Given the description of an element on the screen output the (x, y) to click on. 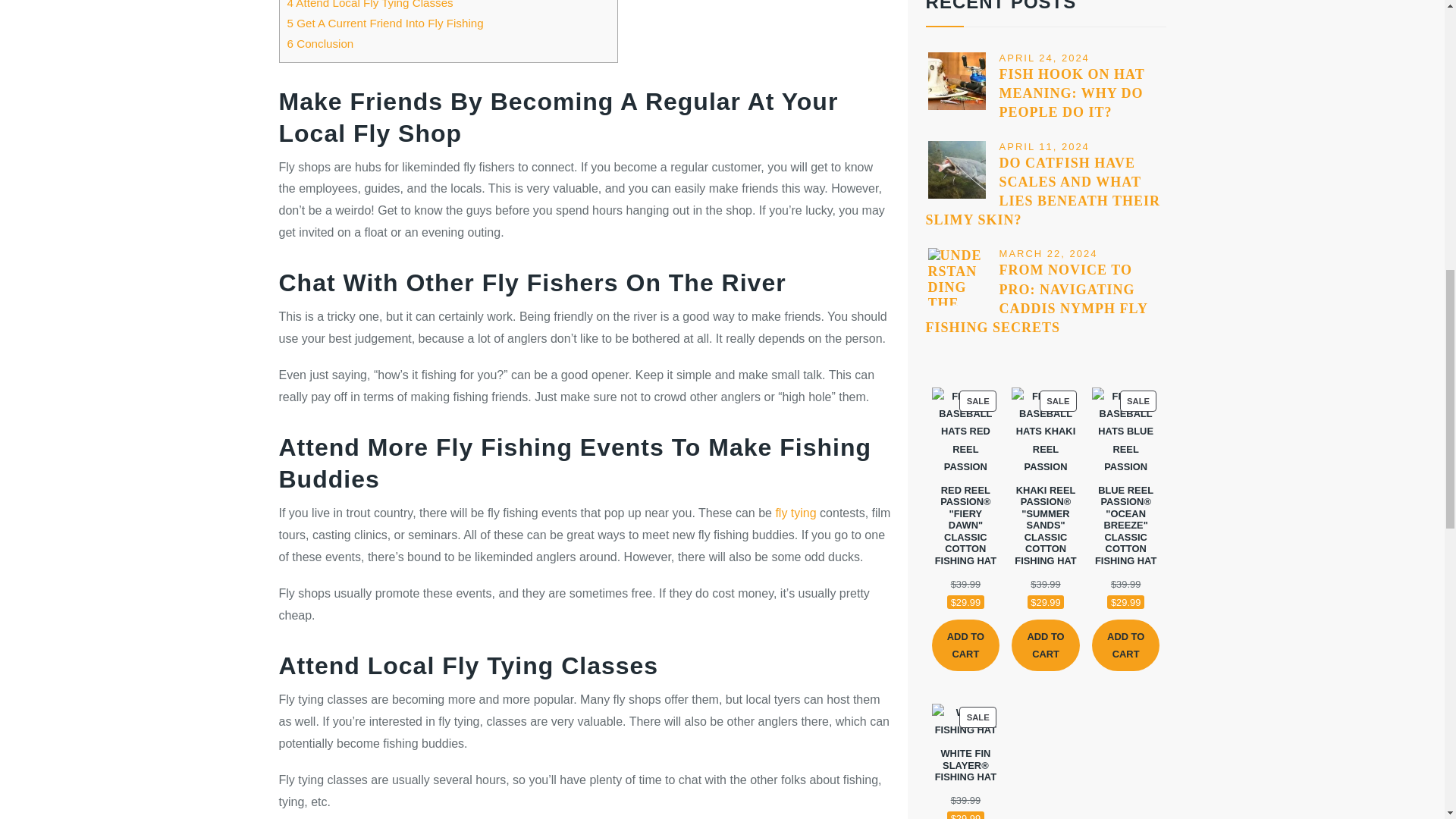
6 Conclusion (319, 42)
4 Attend Local Fly Tying Classes (369, 4)
5 Get A Current Friend Into Fly Fishing (384, 22)
fly tying (794, 512)
